Given the description of an element on the screen output the (x, y) to click on. 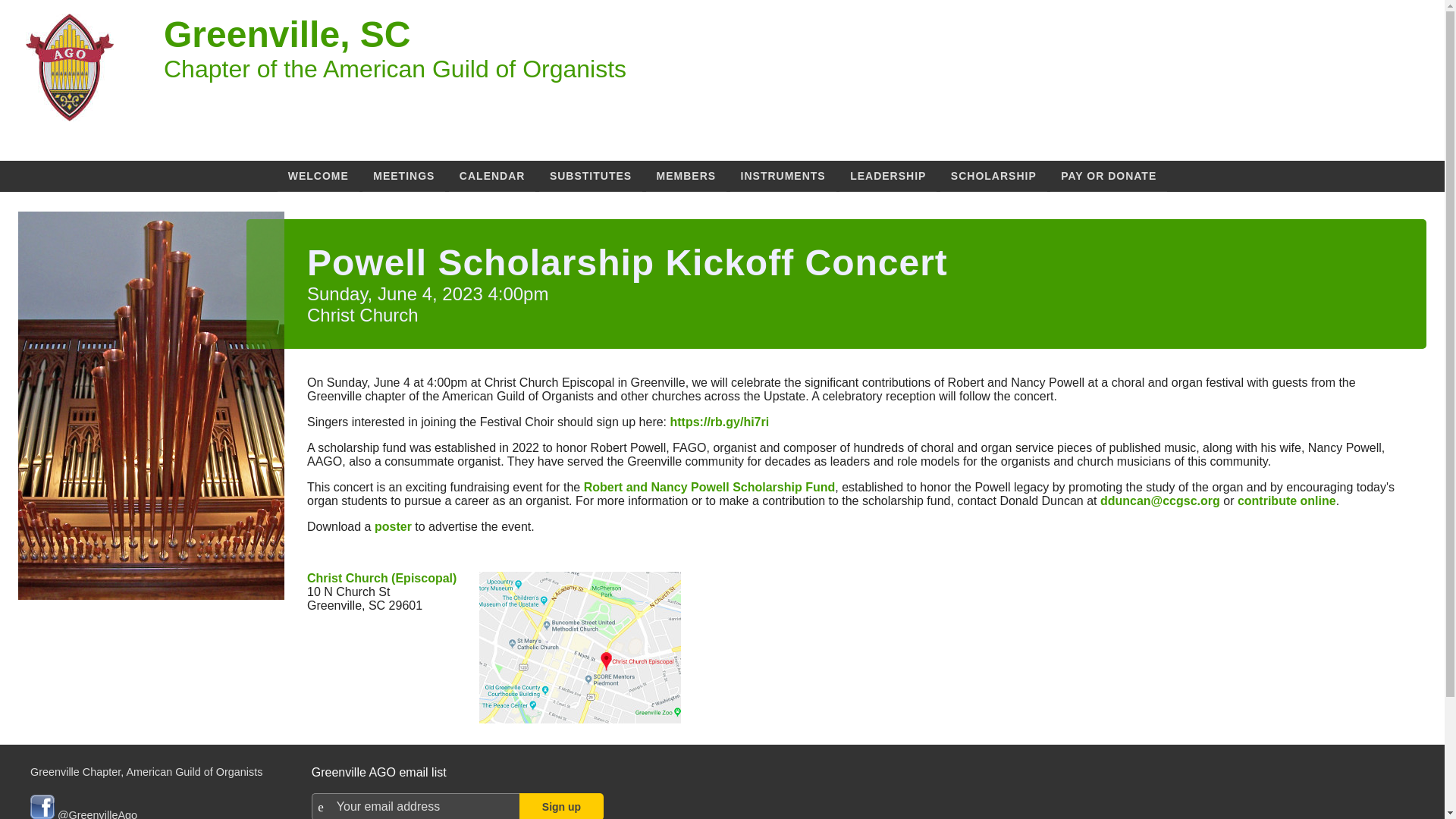
SUBSTITUTES (590, 175)
MEETINGS (403, 175)
Sign up (561, 806)
WELCOME (318, 175)
Robert and Nancy Powell Scholarship Fund (709, 486)
MEMBERS (686, 175)
SCHOLARSHIP (993, 175)
contribute online (1286, 500)
CALENDAR (491, 175)
INSTRUMENTS (782, 175)
poster (393, 526)
Greenville Chapter, American Guild of Organists (146, 771)
LEADERSHIP (888, 175)
Sign up (561, 806)
PAY OR DONATE (1108, 175)
